Given the description of an element on the screen output the (x, y) to click on. 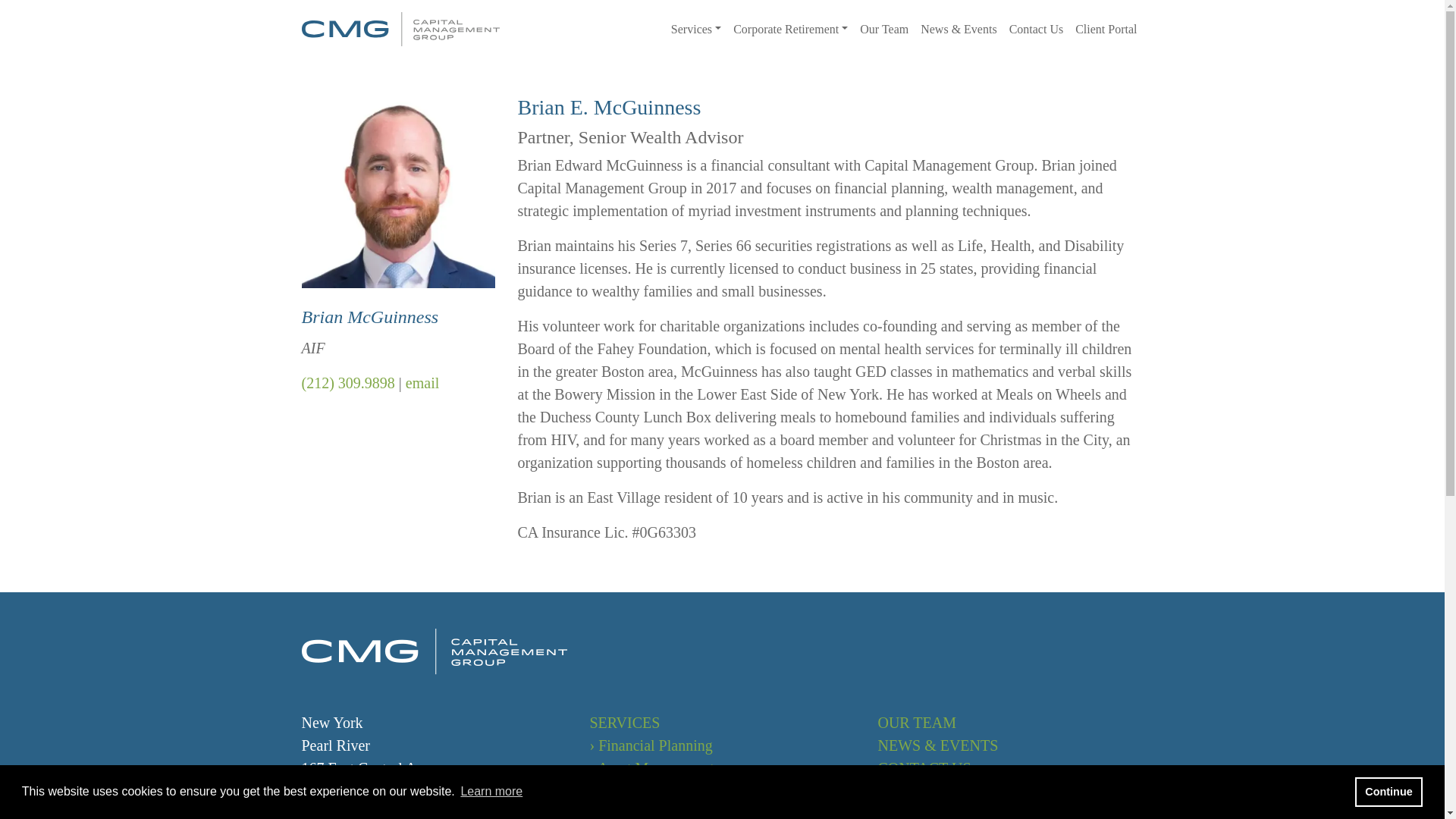
Services (695, 28)
Learn more (491, 791)
Corporate Retirement (789, 28)
Contact Us (1036, 28)
CONTACT US (924, 768)
Continue (1388, 791)
Client Portal (1105, 28)
Our Team (883, 28)
OUR TEAM (916, 722)
SERVICES (624, 722)
email (422, 382)
